Given the description of an element on the screen output the (x, y) to click on. 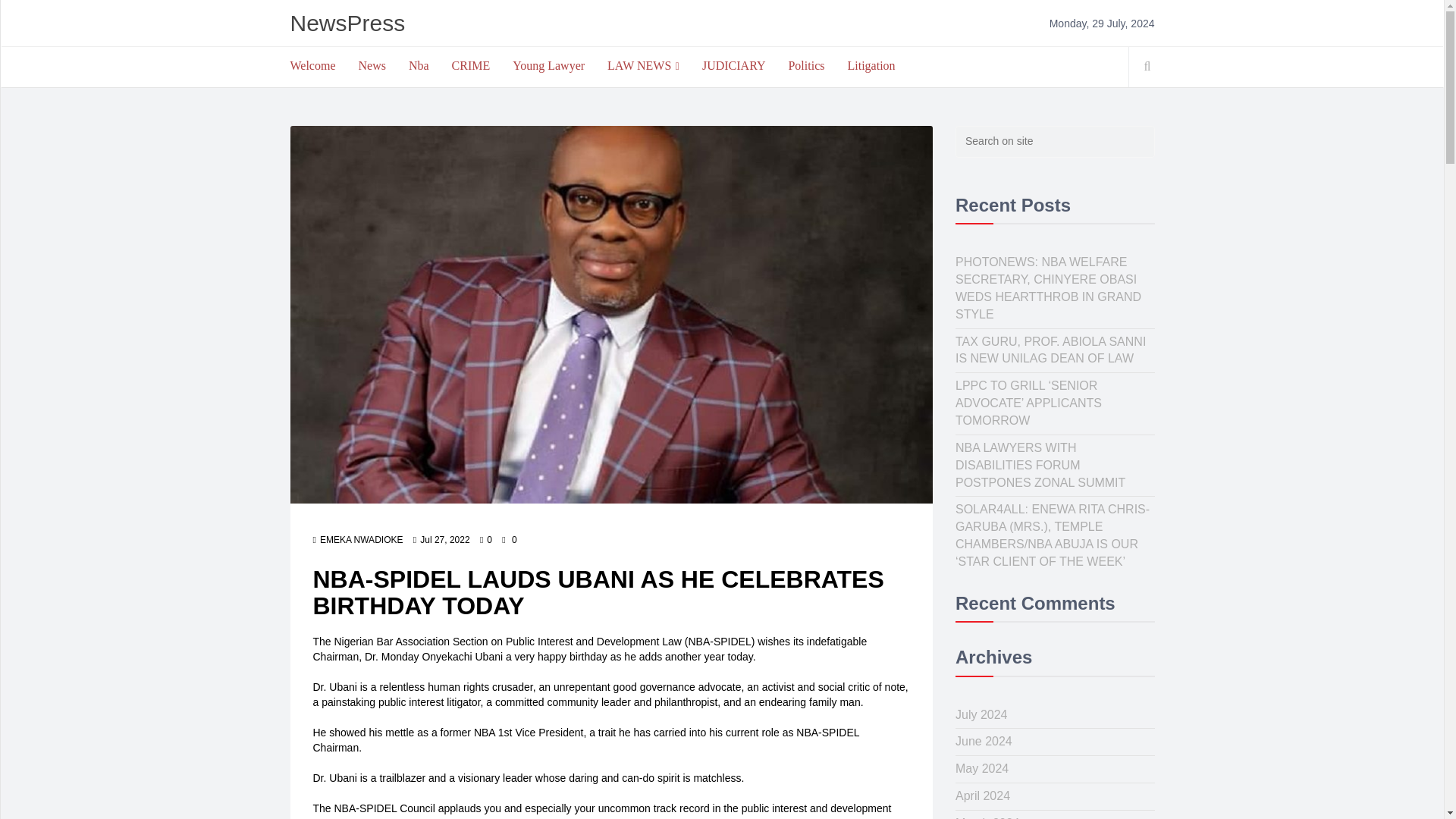
LAW NEWS (642, 65)
Politics (805, 65)
News (372, 65)
JUDICIARY (733, 65)
CRIME (471, 65)
Like (486, 540)
NewsPress (347, 22)
0 (486, 540)
Welcome (313, 65)
Nba (419, 65)
Young Lawyer (547, 65)
Litigation (870, 65)
EMEKA NWADIOKE (358, 540)
